Given the description of an element on the screen output the (x, y) to click on. 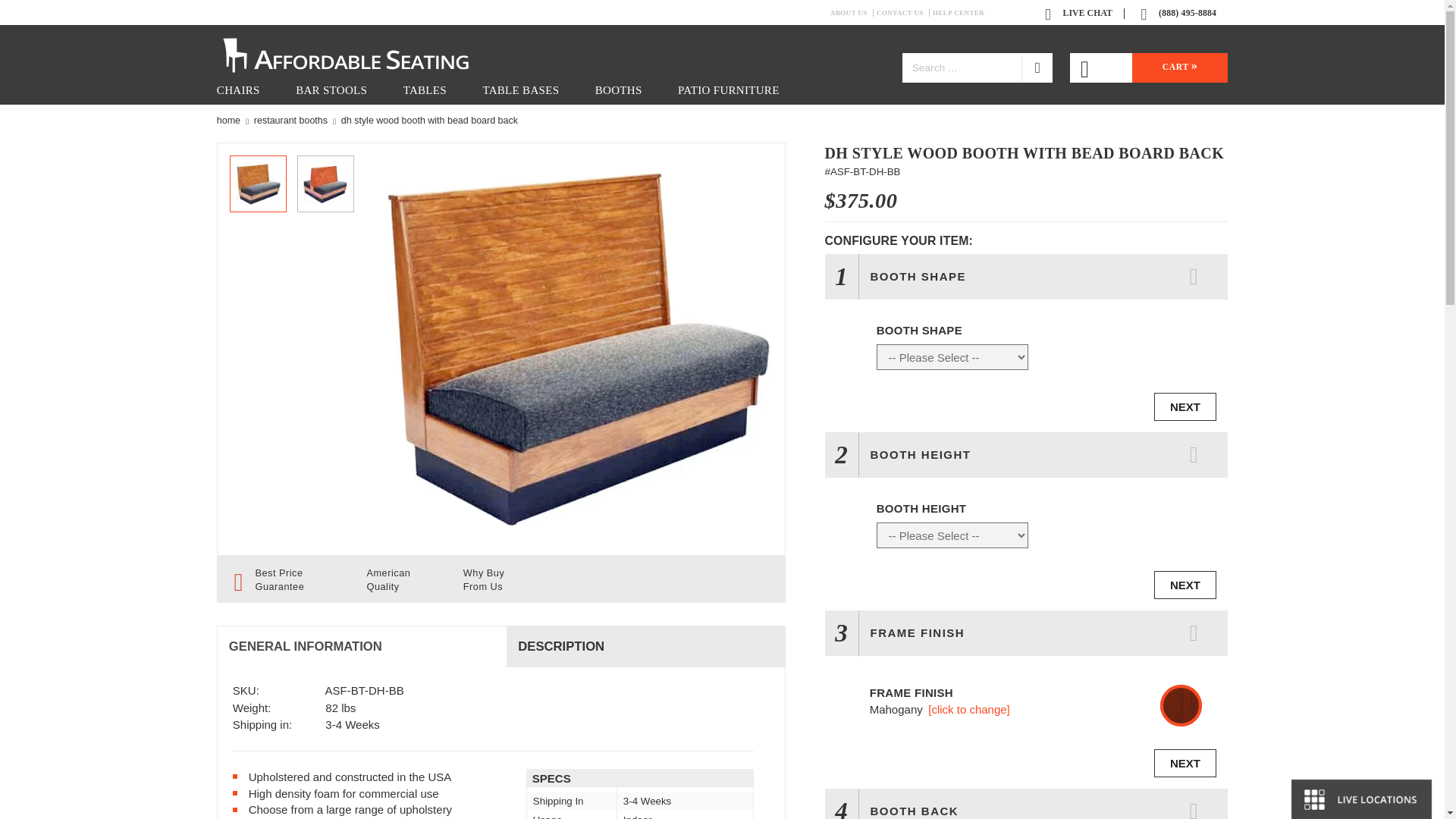
BAR STOOLS (330, 90)
TABLES (424, 90)
LIVE CHAT (1081, 12)
Restaurant Booths (290, 120)
ABOUT US (851, 12)
Home (228, 120)
Affordable Seating (361, 53)
Search (1037, 67)
CHAIRS (238, 90)
